Given the description of an element on the screen output the (x, y) to click on. 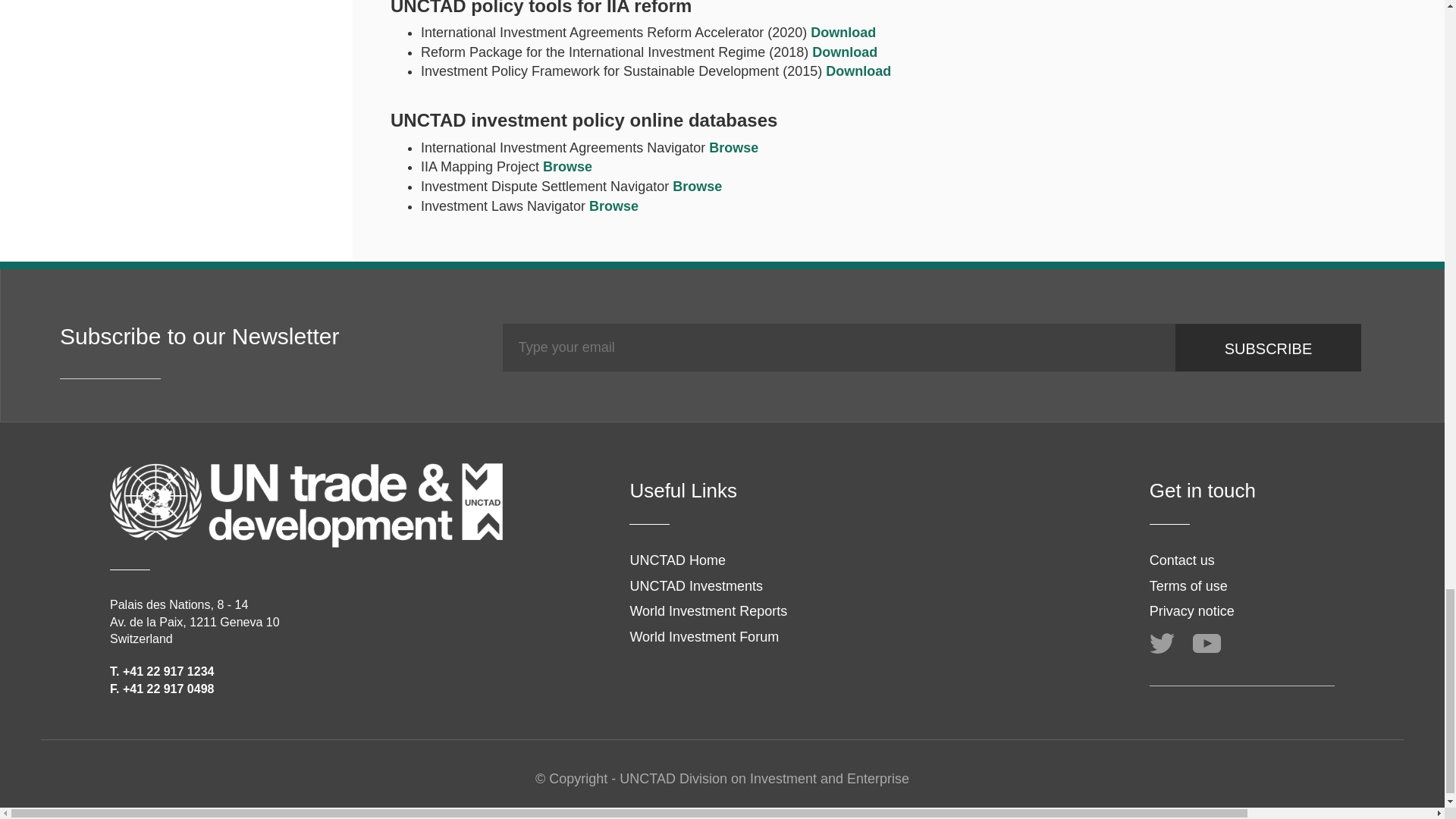
email (838, 347)
